Given the description of an element on the screen output the (x, y) to click on. 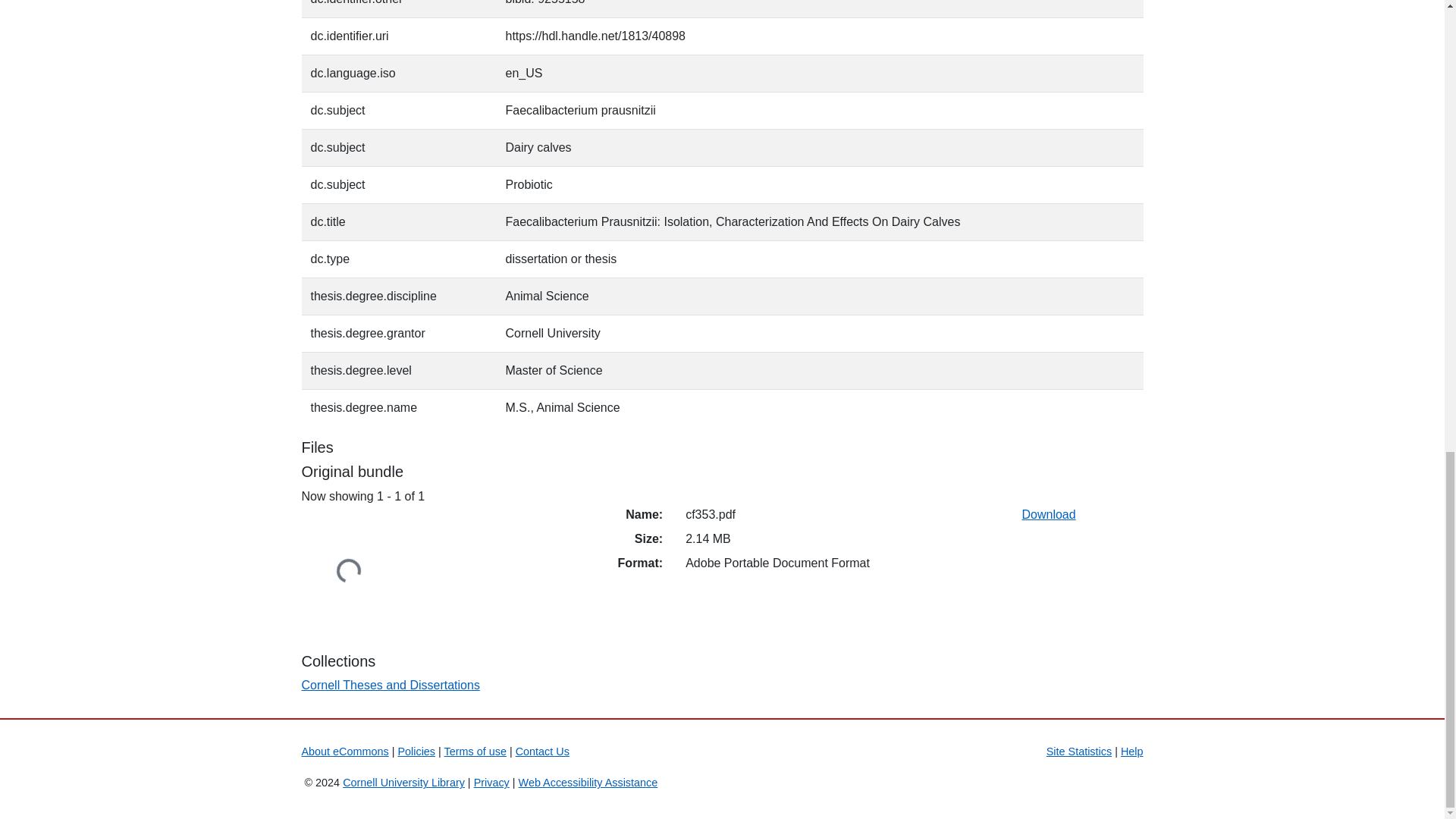
Site Statistics (1079, 751)
About eCommons (344, 751)
Help (1131, 751)
Policies (416, 751)
Contact Us (542, 751)
Terms of use (475, 751)
Download (1048, 513)
Privacy (491, 782)
Web Accessibility Assistance (588, 782)
Cornell Theses and Dissertations (390, 684)
Cornell University Library (403, 782)
